Given the description of an element on the screen output the (x, y) to click on. 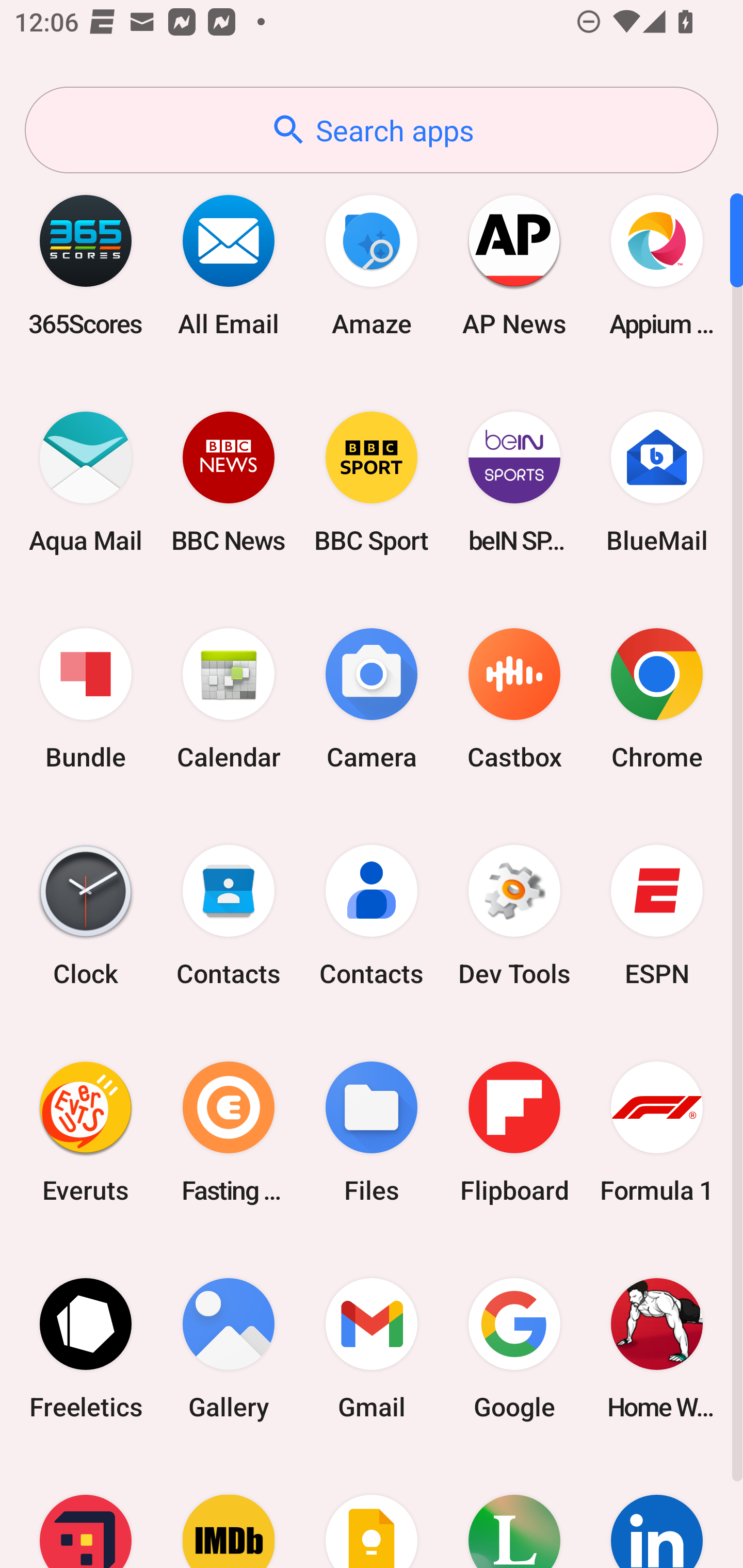
  Search apps (371, 130)
365Scores (85, 264)
All Email (228, 264)
Amaze (371, 264)
AP News (514, 264)
Appium Settings (656, 264)
Aqua Mail (85, 482)
BBC News (228, 482)
BBC Sport (371, 482)
beIN SPORTS (514, 482)
BlueMail (656, 482)
Bundle (85, 699)
Calendar (228, 699)
Camera (371, 699)
Castbox (514, 699)
Chrome (656, 699)
Clock (85, 915)
Contacts (228, 915)
Contacts (371, 915)
Dev Tools (514, 915)
ESPN (656, 915)
Everuts (85, 1131)
Fasting Coach (228, 1131)
Files (371, 1131)
Flipboard (514, 1131)
Formula 1 (656, 1131)
Freeletics (85, 1348)
Gallery (228, 1348)
Gmail (371, 1348)
Google (514, 1348)
Home Workout (656, 1348)
Hotels.com (85, 1512)
IMDb (228, 1512)
Keep Notes (371, 1512)
Lifesum (514, 1512)
LinkedIn (656, 1512)
